Given the description of an element on the screen output the (x, y) to click on. 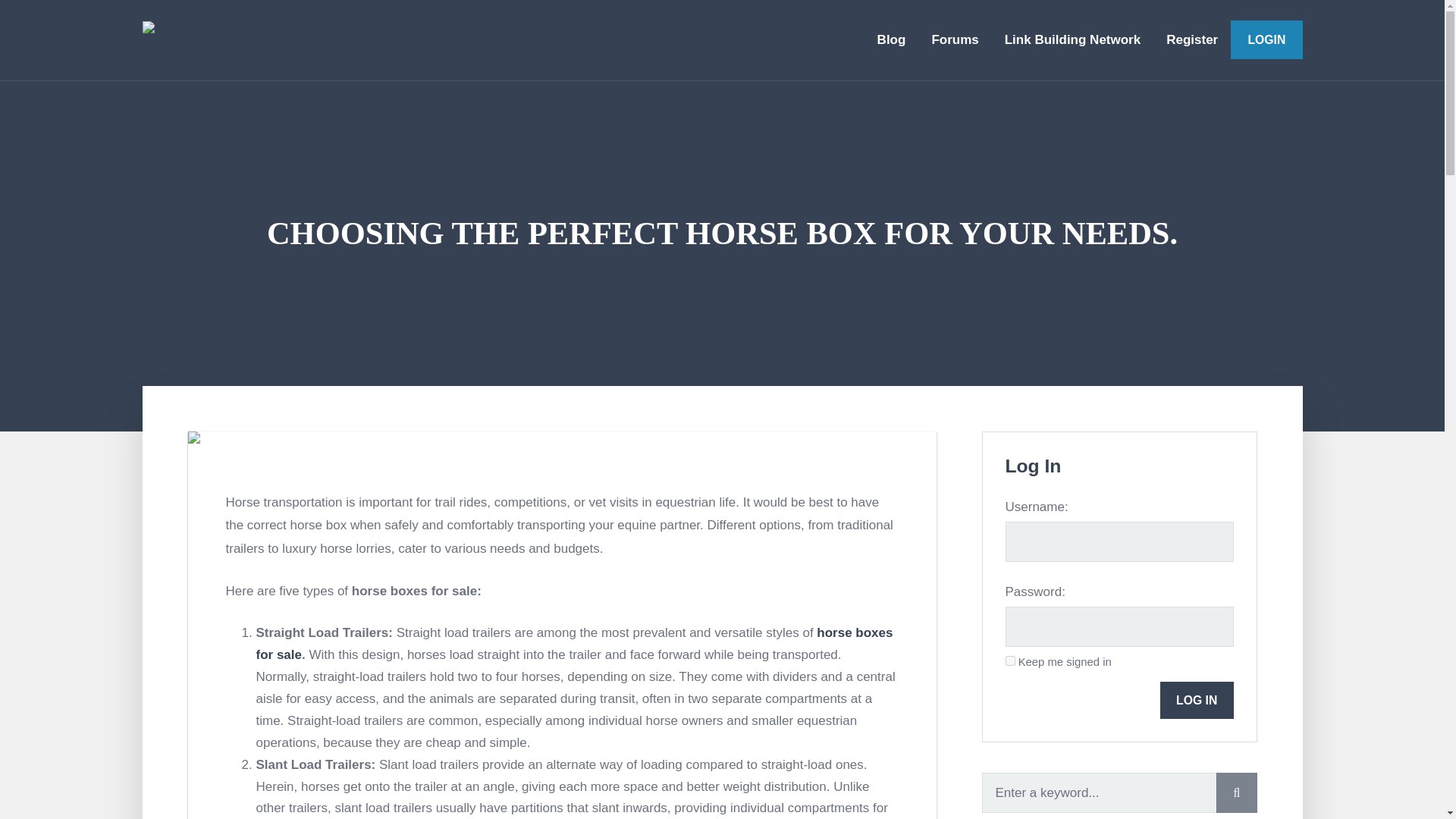
Register (1191, 40)
Forums (954, 40)
Link Building Network (1072, 40)
LOG IN (1196, 700)
forever (1010, 660)
horse boxes for sale (574, 643)
LOGIN (1265, 39)
